Given the description of an element on the screen output the (x, y) to click on. 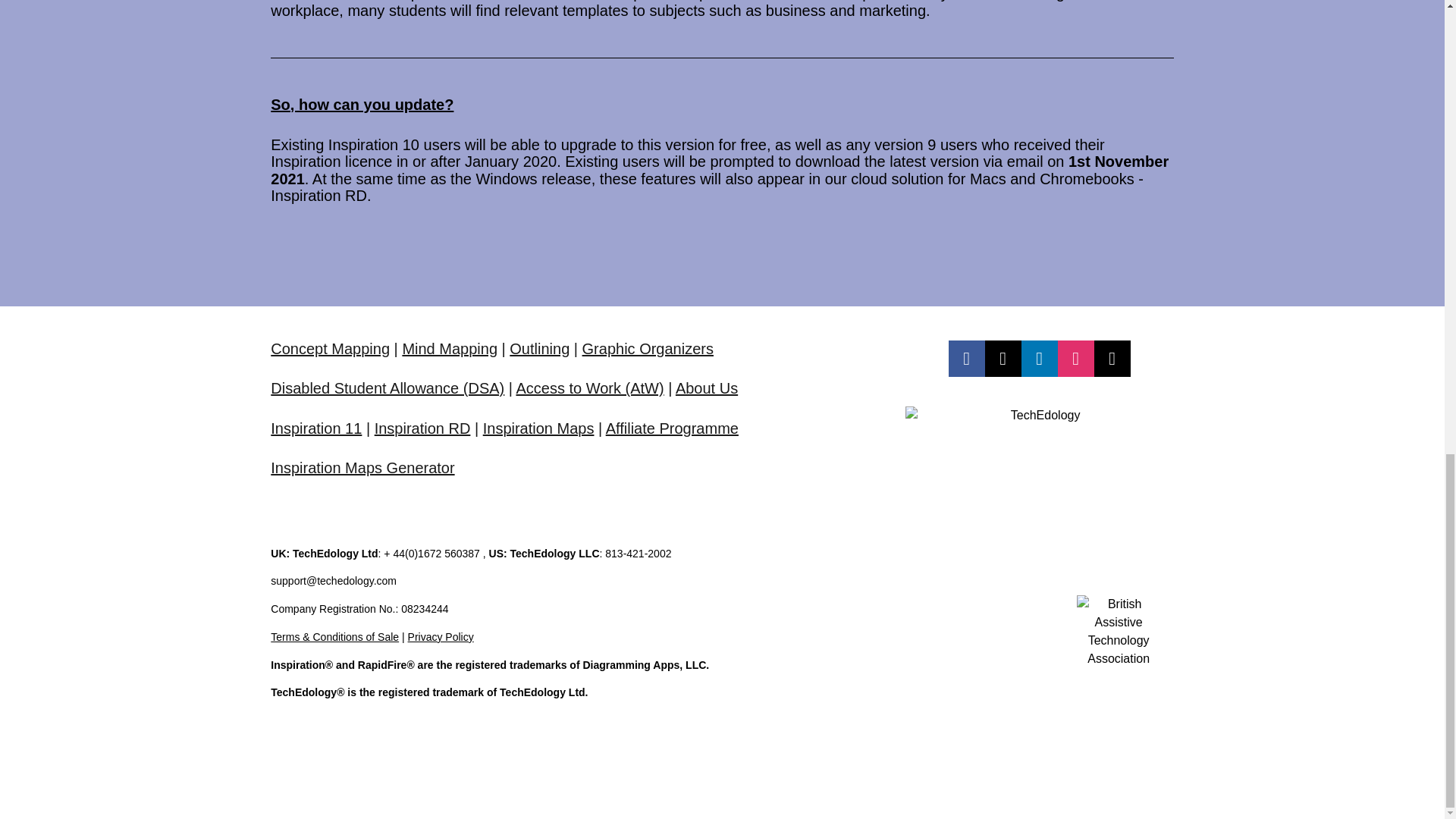
About Us (706, 388)
Affiliate Programme (671, 428)
Mind Mapping (449, 348)
Outlining (539, 348)
Privacy Policy (440, 636)
Concept Mapping (330, 348)
Share on Facebook (967, 358)
Share on TikTok (1112, 358)
Inspiration 11 (315, 428)
Graphic Organizers (647, 348)
